Given the description of an element on the screen output the (x, y) to click on. 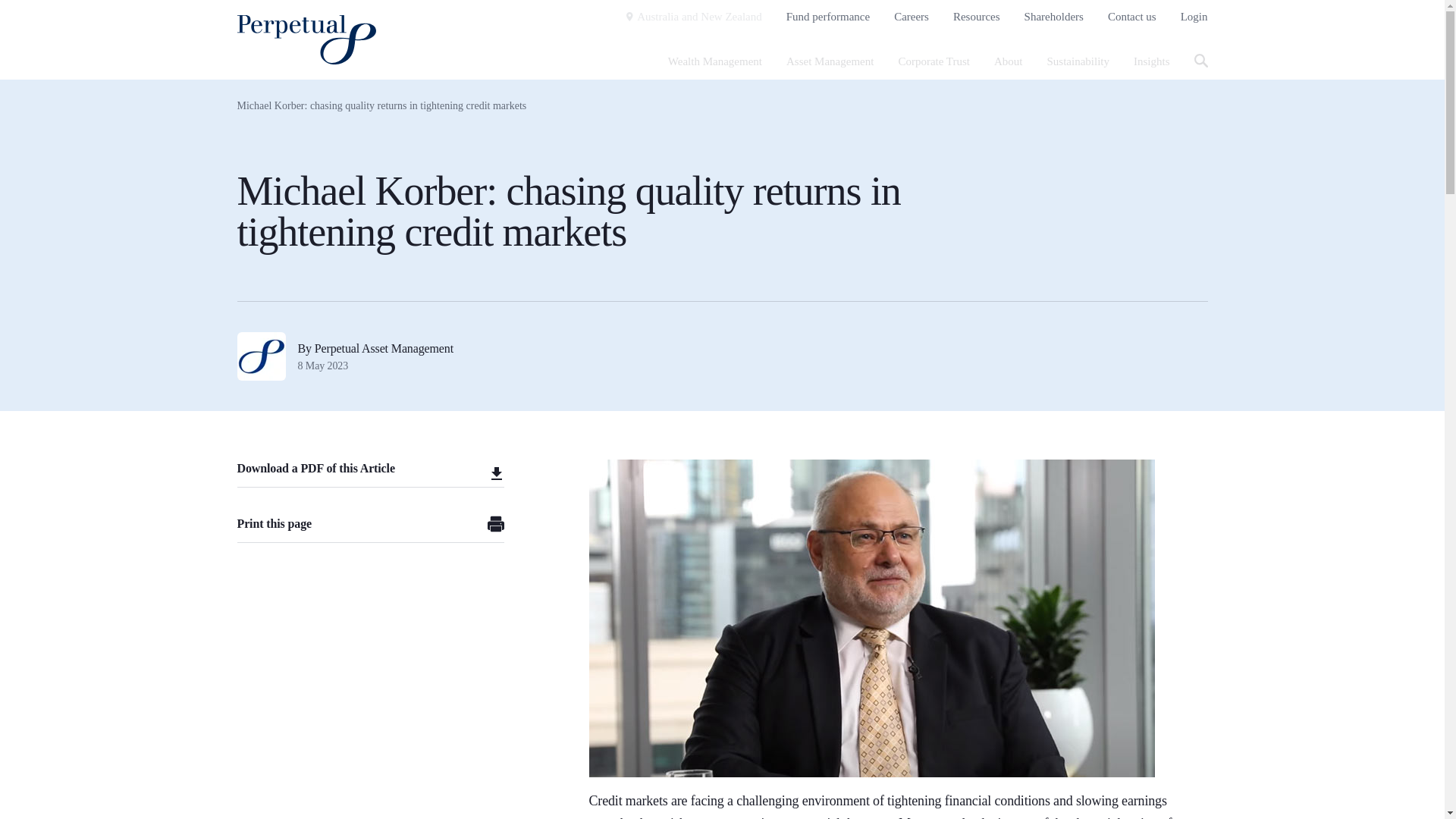
Asset Management (829, 60)
Wealth Management (714, 60)
Sustainability (1077, 60)
About (1008, 60)
Corporate Trust (933, 60)
Insights (1152, 60)
